Given the description of an element on the screen output the (x, y) to click on. 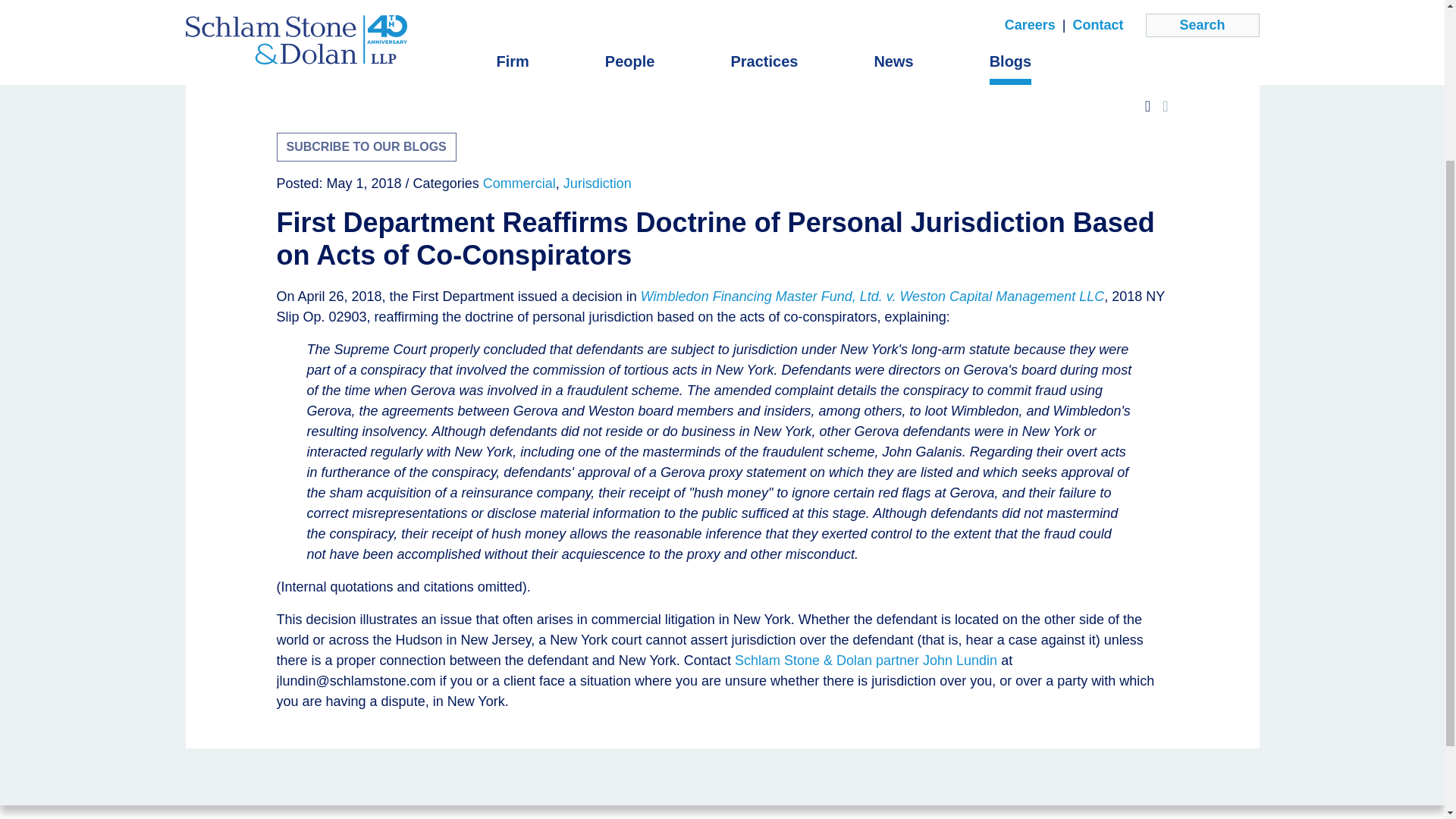
Commercial (519, 183)
Jurisdiction (597, 183)
SUBCRIBE TO OUR BLOGS (365, 146)
